Given the description of an element on the screen output the (x, y) to click on. 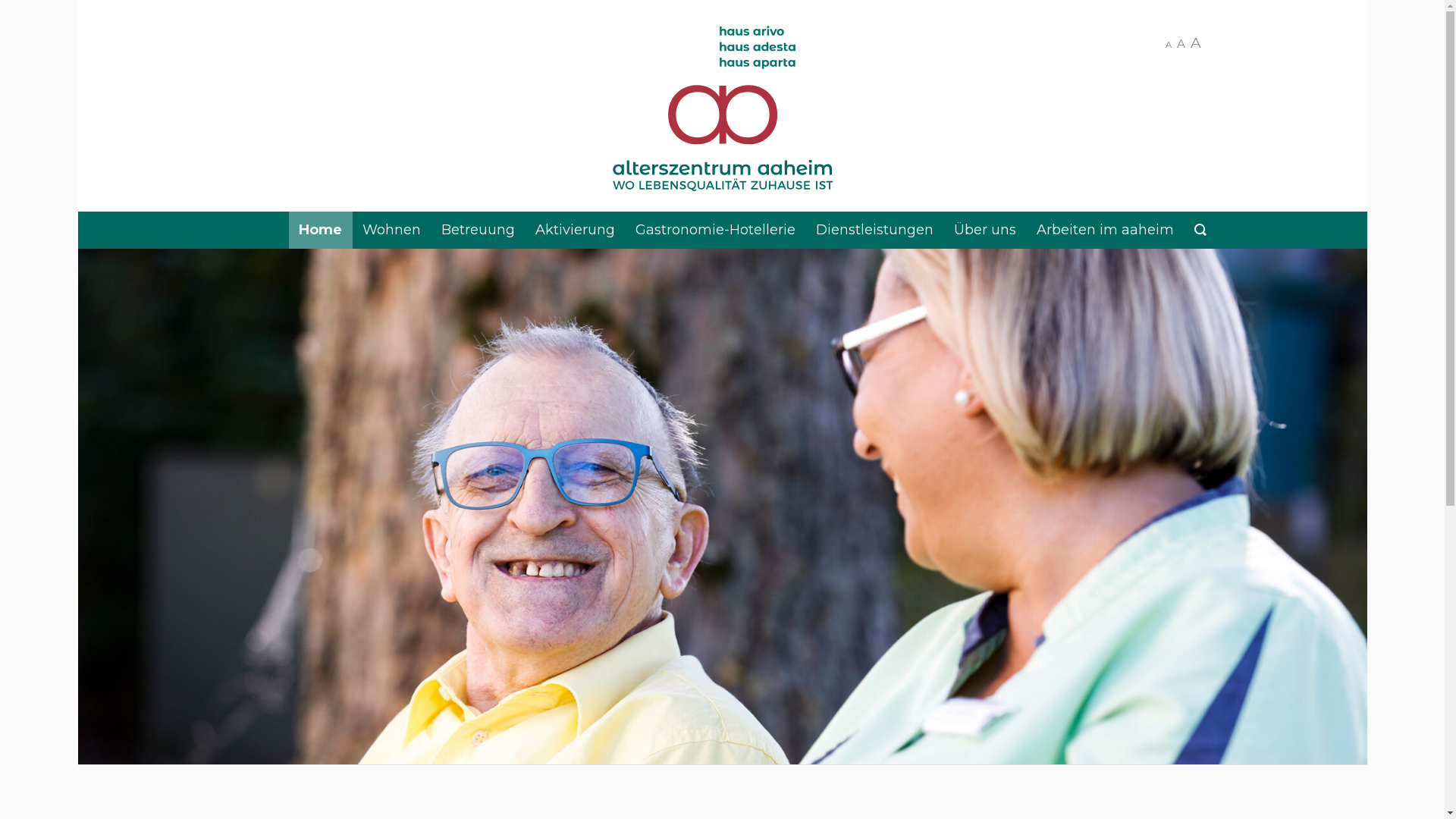
Aktivierung Element type: text (574, 230)
A Element type: text (1196, 42)
Dienstleistungen Element type: text (874, 230)
Betreuung Element type: text (477, 230)
Arbeiten im aaheim Element type: text (1105, 230)
Wohnen Element type: text (390, 230)
Gastronomie-Hotellerie Element type: text (714, 230)
A Element type: text (1167, 45)
A Element type: text (1180, 44)
Home Element type: text (319, 230)
